Given the description of an element on the screen output the (x, y) to click on. 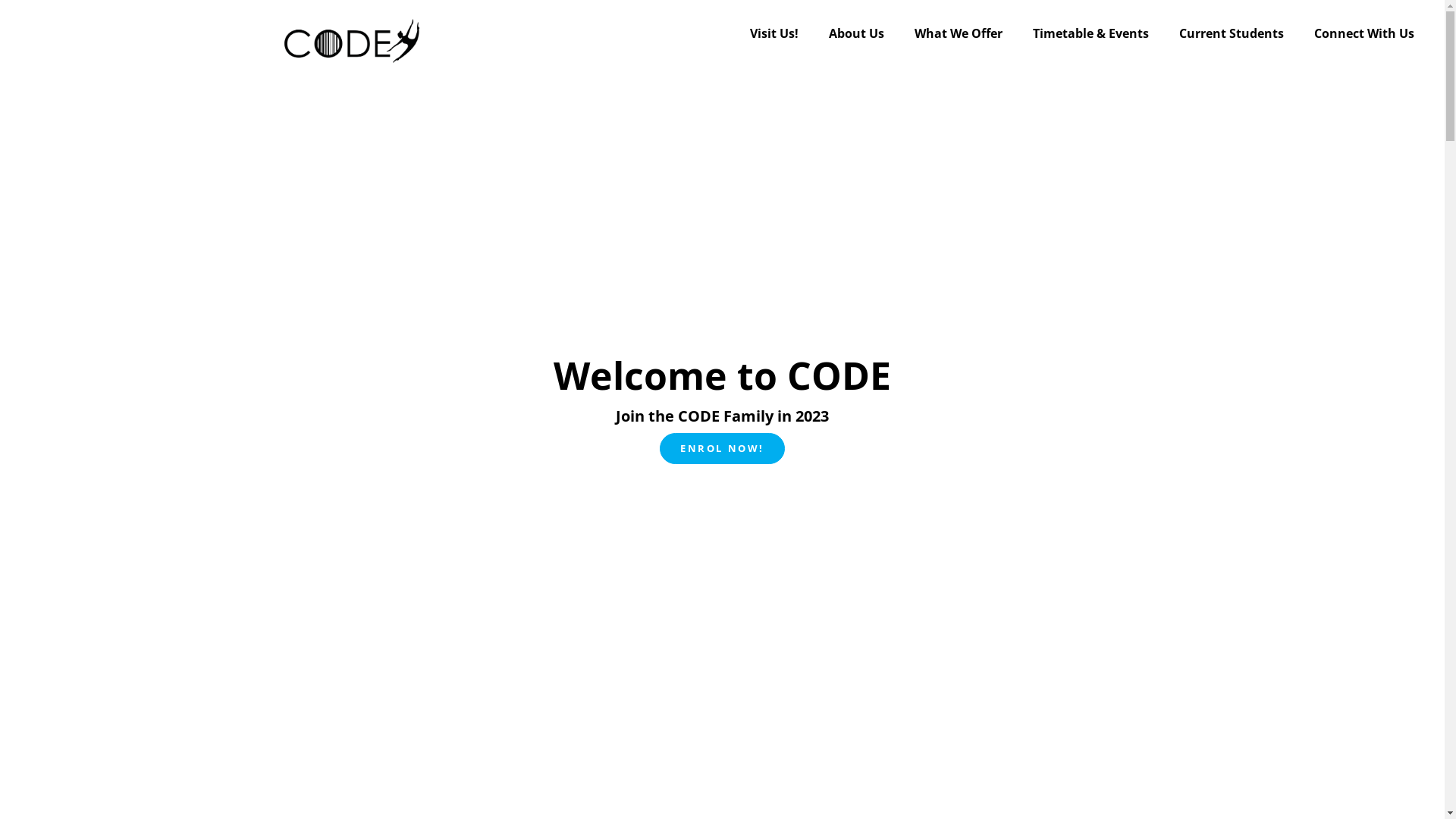
ENROL NOW! Element type: text (721, 447)
Skip to content Element type: text (0, 0)
Current Students Element type: text (1231, 33)
Connect With Us Element type: text (1364, 33)
About Us Element type: text (856, 33)
CODE (Centre of Dance and Exercise) Element type: hover (351, 33)
Visit Us! Element type: text (773, 33)
What We Offer Element type: text (958, 33)
ENROL NOW! Element type: text (721, 448)
Timetable & Events Element type: text (1090, 33)
